Given the description of an element on the screen output the (x, y) to click on. 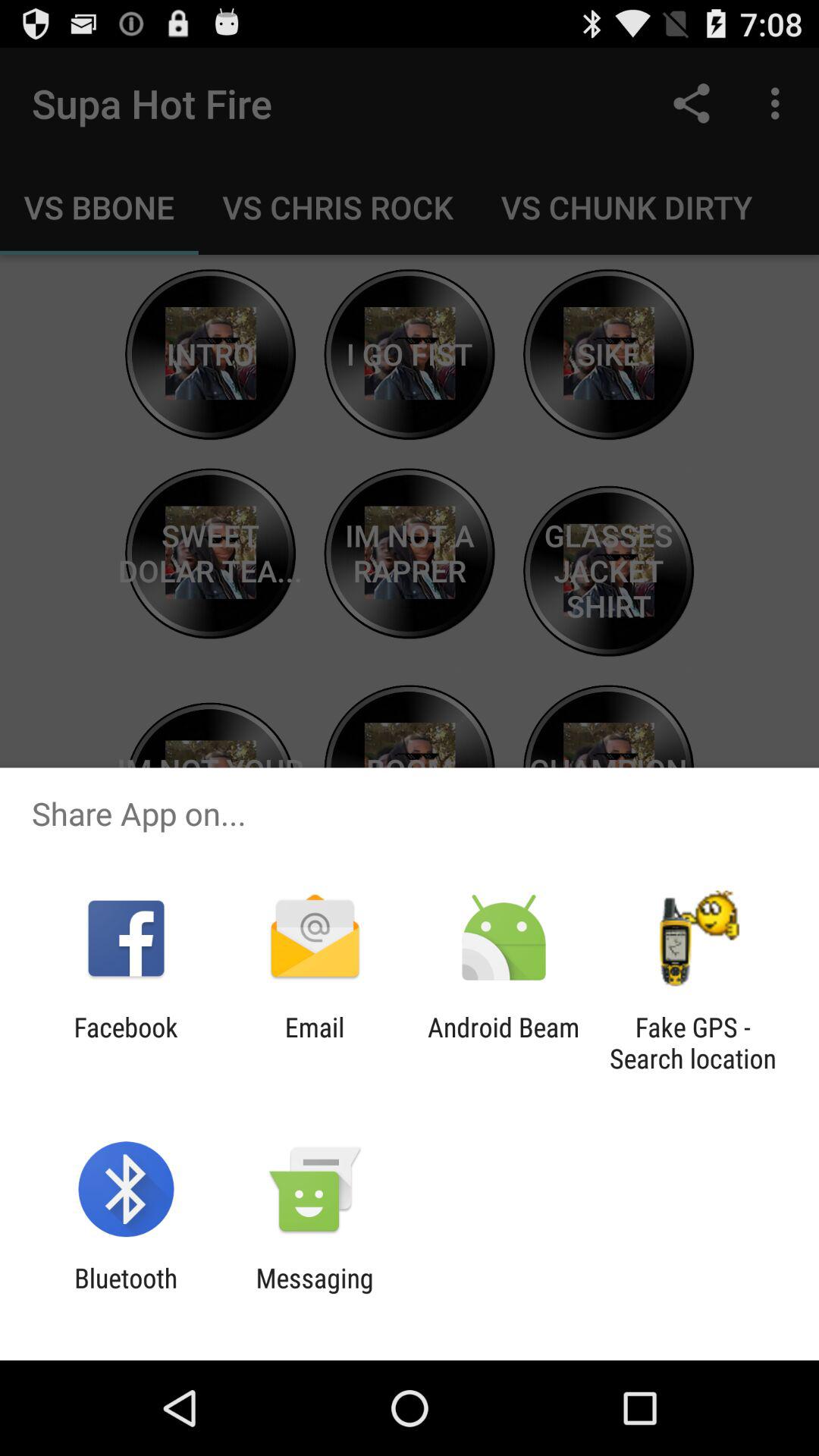
jump to bluetooth item (125, 1293)
